Given the description of an element on the screen output the (x, y) to click on. 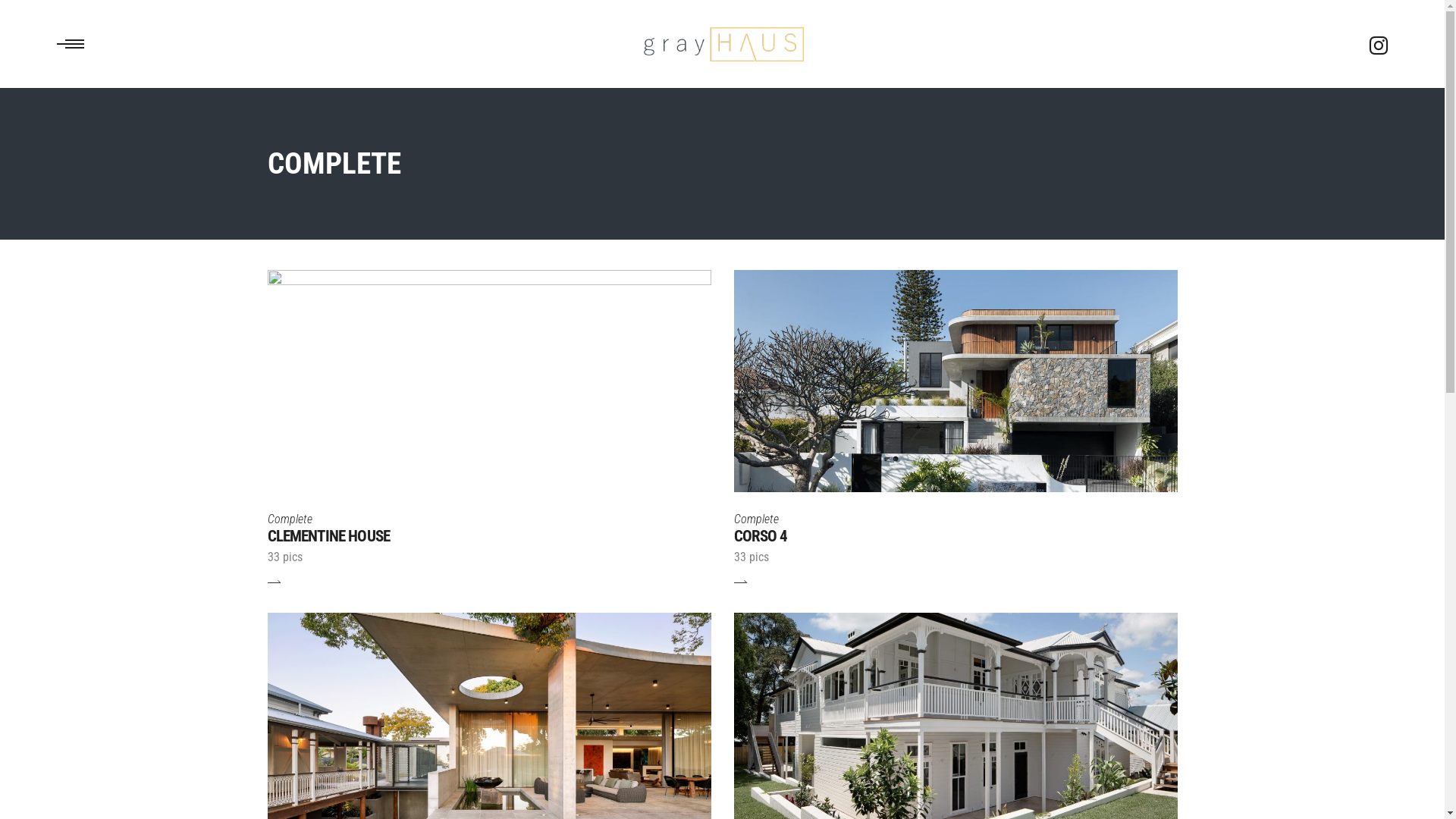
Complete Element type: text (756, 518)
Complete Element type: text (288, 518)
